Given the description of an element on the screen output the (x, y) to click on. 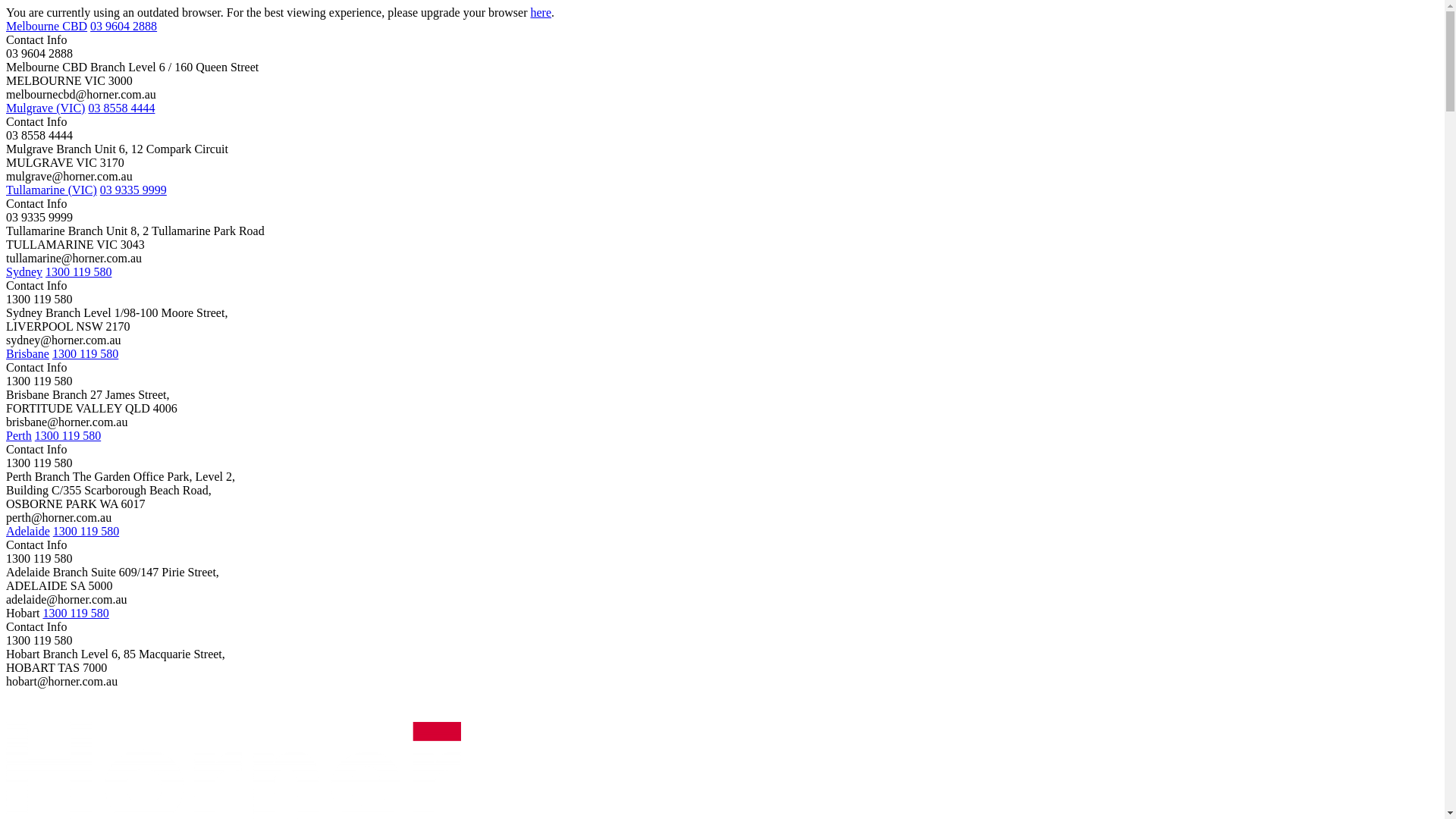
Tullamarine (VIC) Element type: text (51, 189)
Sydney Element type: text (24, 271)
1300 119 580 Element type: text (86, 530)
1300 119 580 Element type: text (75, 612)
1300 119 580 Element type: text (78, 271)
Melbourne CBD Element type: text (46, 25)
Adelaide Element type: text (28, 530)
Perth Element type: text (18, 435)
1300 119 580 Element type: text (67, 435)
Brisbane Element type: text (27, 353)
03 8558 4444 Element type: text (120, 107)
03 9604 2888 Element type: text (123, 25)
03 9335 9999 Element type: text (133, 189)
Mulgrave (VIC) Element type: text (45, 107)
1300 119 580 Element type: text (85, 353)
here Element type: text (541, 12)
